Given the description of an element on the screen output the (x, y) to click on. 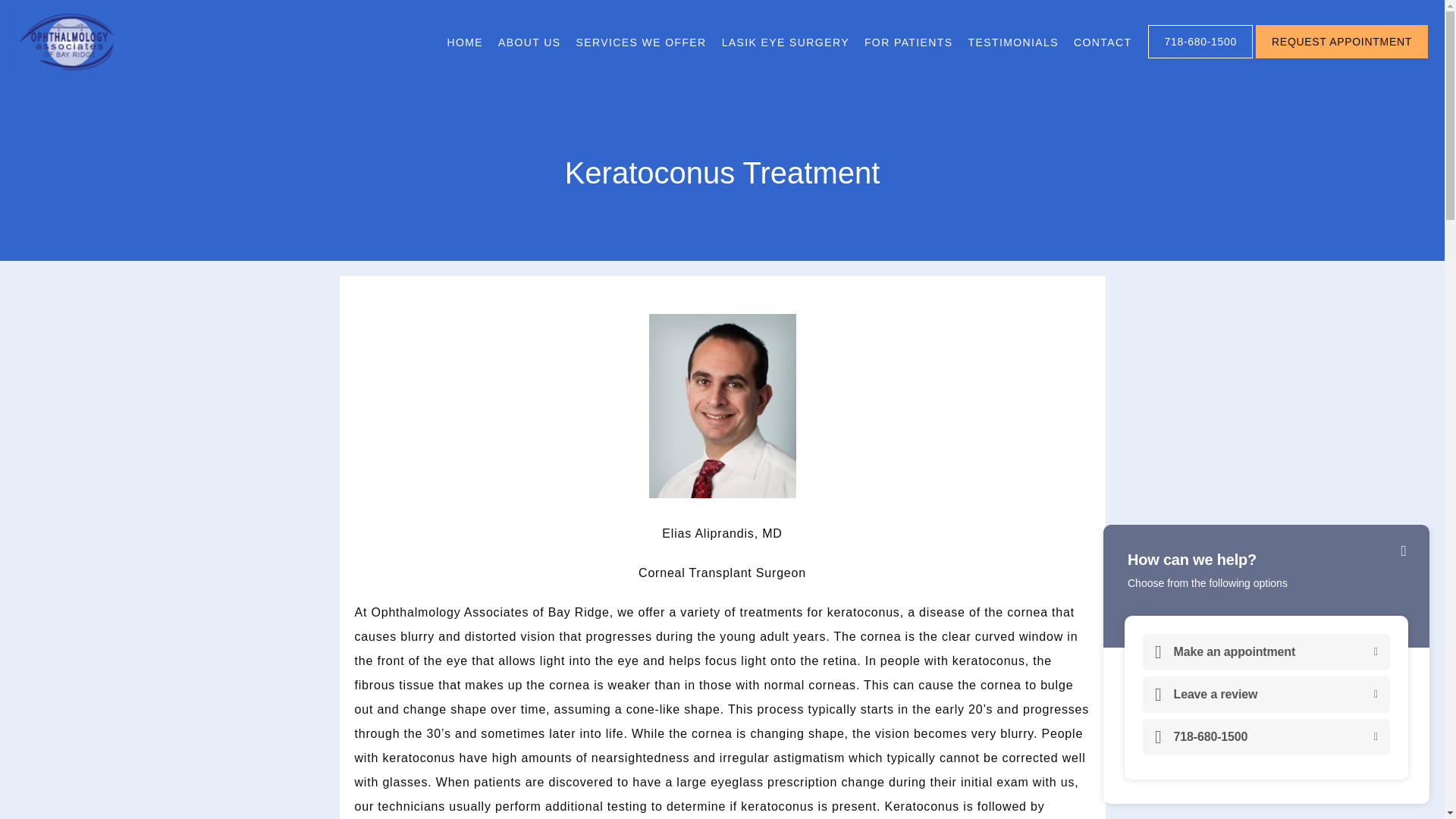
HOME (464, 42)
SERVICES WE OFFER (641, 42)
REQUEST APPOINTMENT (1341, 56)
718-680-1500 (1200, 56)
CONTACT (1102, 42)
LASIK EYE SURGERY (785, 42)
TESTIMONIALS (1013, 42)
ABOUT US (528, 42)
